Given the description of an element on the screen output the (x, y) to click on. 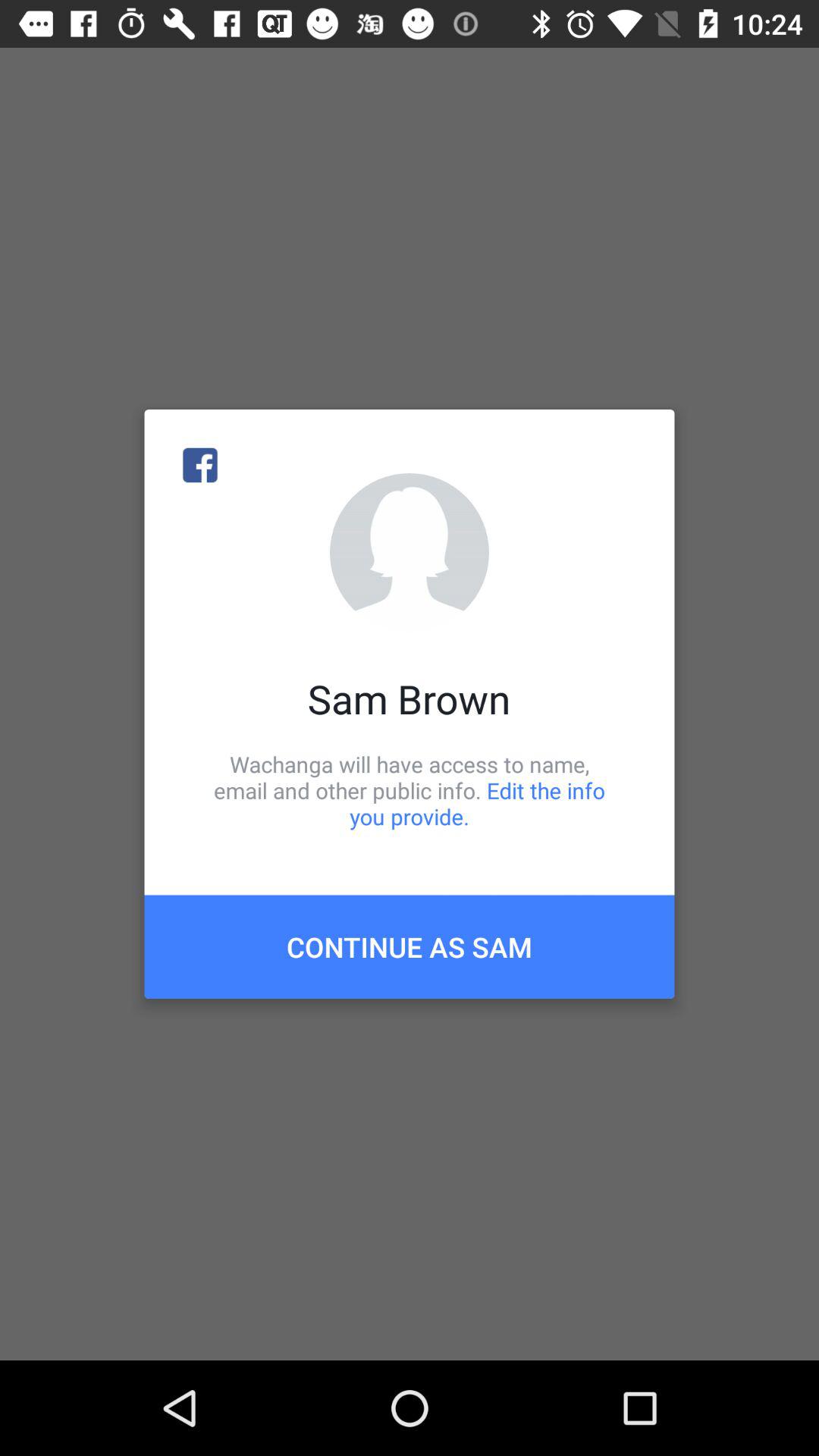
open the item below sam brown item (409, 790)
